Given the description of an element on the screen output the (x, y) to click on. 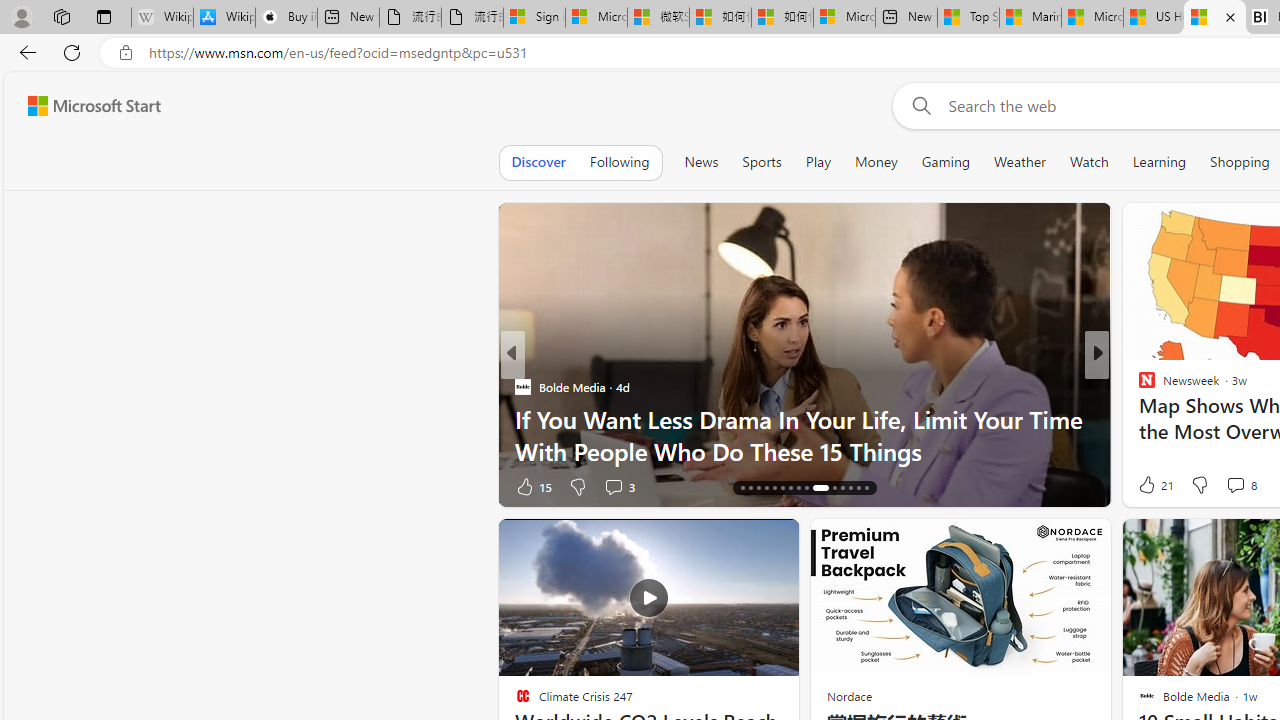
View comments 265 Comment (1247, 486)
Bolde Media (522, 386)
AutomationID: tab-30 (865, 487)
View comments 3 Comment (613, 485)
Live Science (1138, 418)
37 Like (1149, 486)
21 Like (1154, 484)
